Given the description of an element on the screen output the (x, y) to click on. 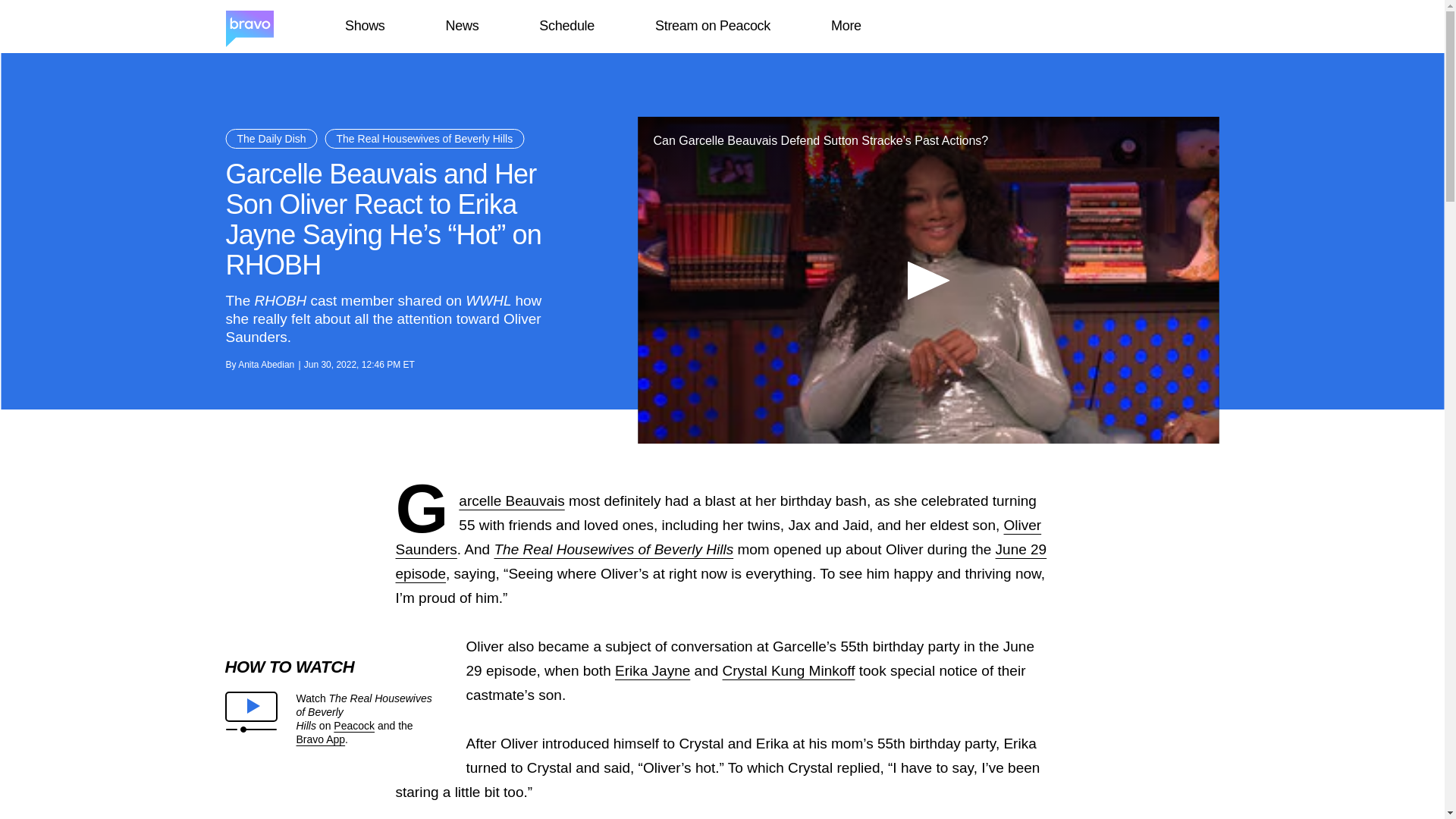
News (462, 26)
Home (249, 26)
Schedule (566, 26)
The Real Housewives of Beverly Hills (424, 138)
Stream on Peacock (712, 26)
Erika Jayne (652, 670)
Garcelle Beauvais (511, 500)
June 29 episode (721, 561)
Peacock (353, 725)
Shows (363, 26)
